Given the description of an element on the screen output the (x, y) to click on. 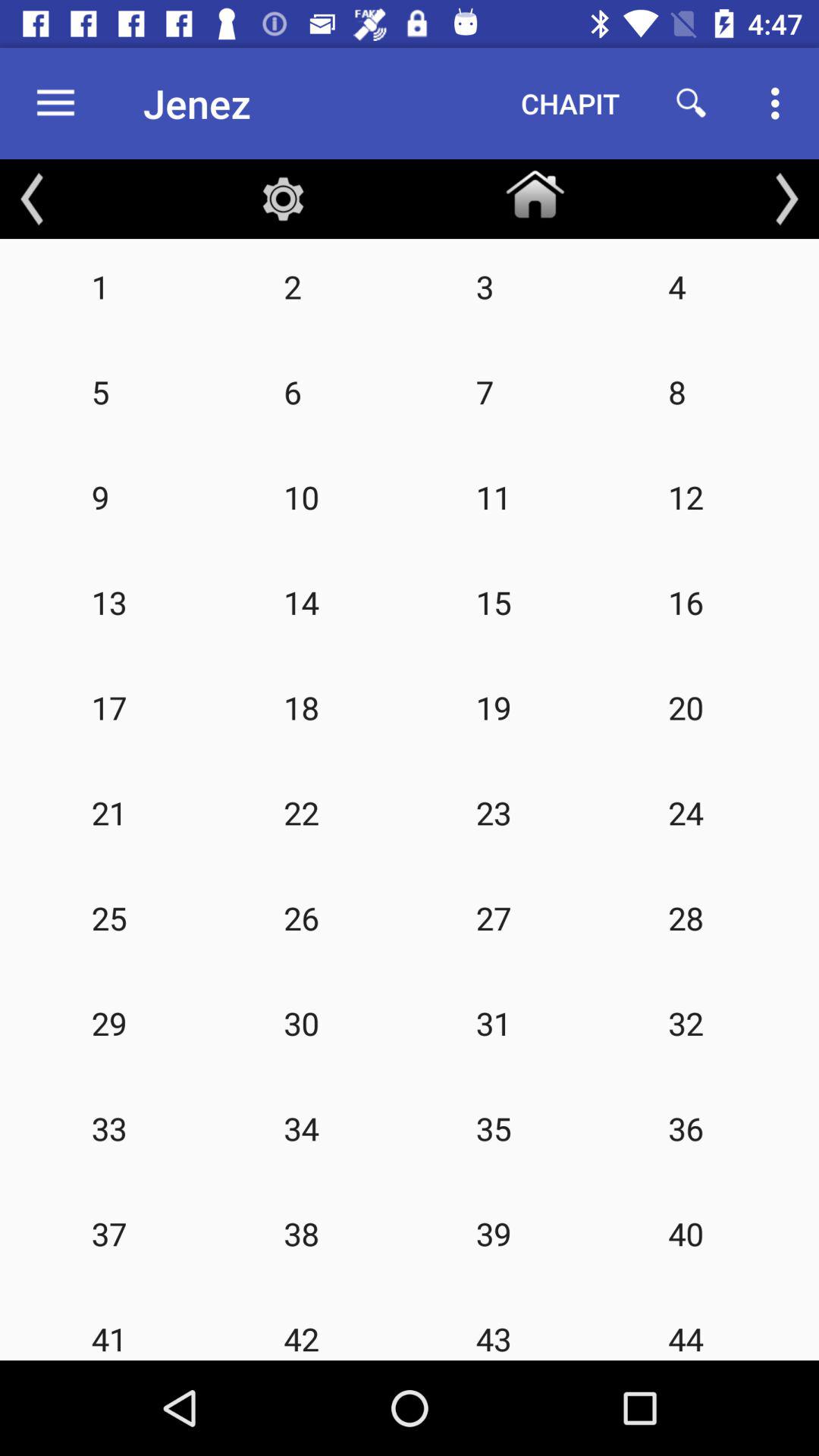
tap the icon to the right of the jenez  icon (570, 103)
